Given the description of an element on the screen output the (x, y) to click on. 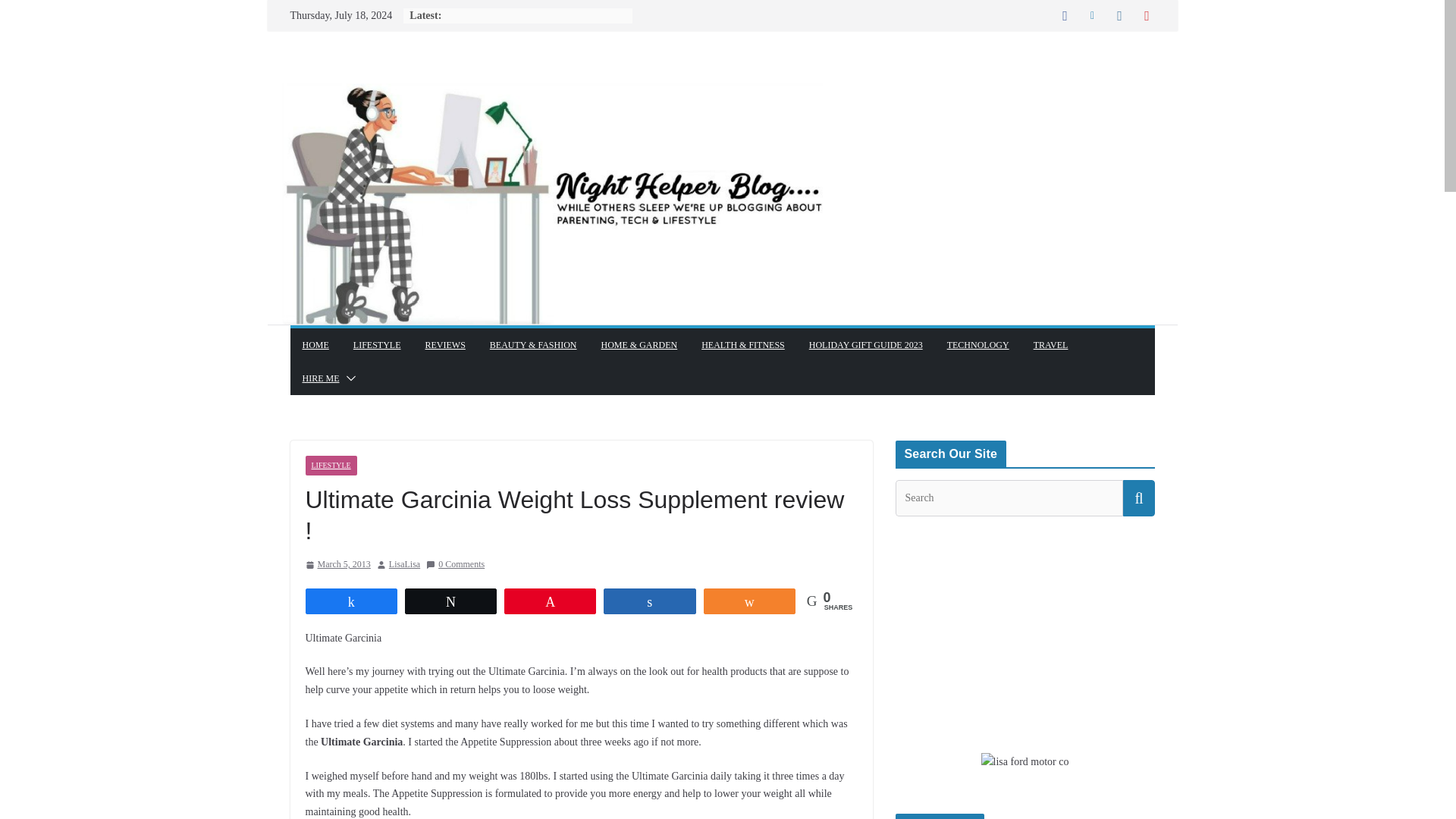
HIRE ME (320, 378)
0 Comments (455, 564)
LisaLisa (404, 564)
REVIEWS (445, 344)
11:37 am (336, 564)
TRAVEL (1050, 344)
LIFESTYLE (330, 465)
HOLIDAY GIFT GUIDE 2023 (866, 344)
LIFESTYLE (377, 344)
HOME (315, 344)
LisaLisa (404, 564)
TECHNOLOGY (978, 344)
March 5, 2013 (336, 564)
Night Helper (721, 77)
